Given the description of an element on the screen output the (x, y) to click on. 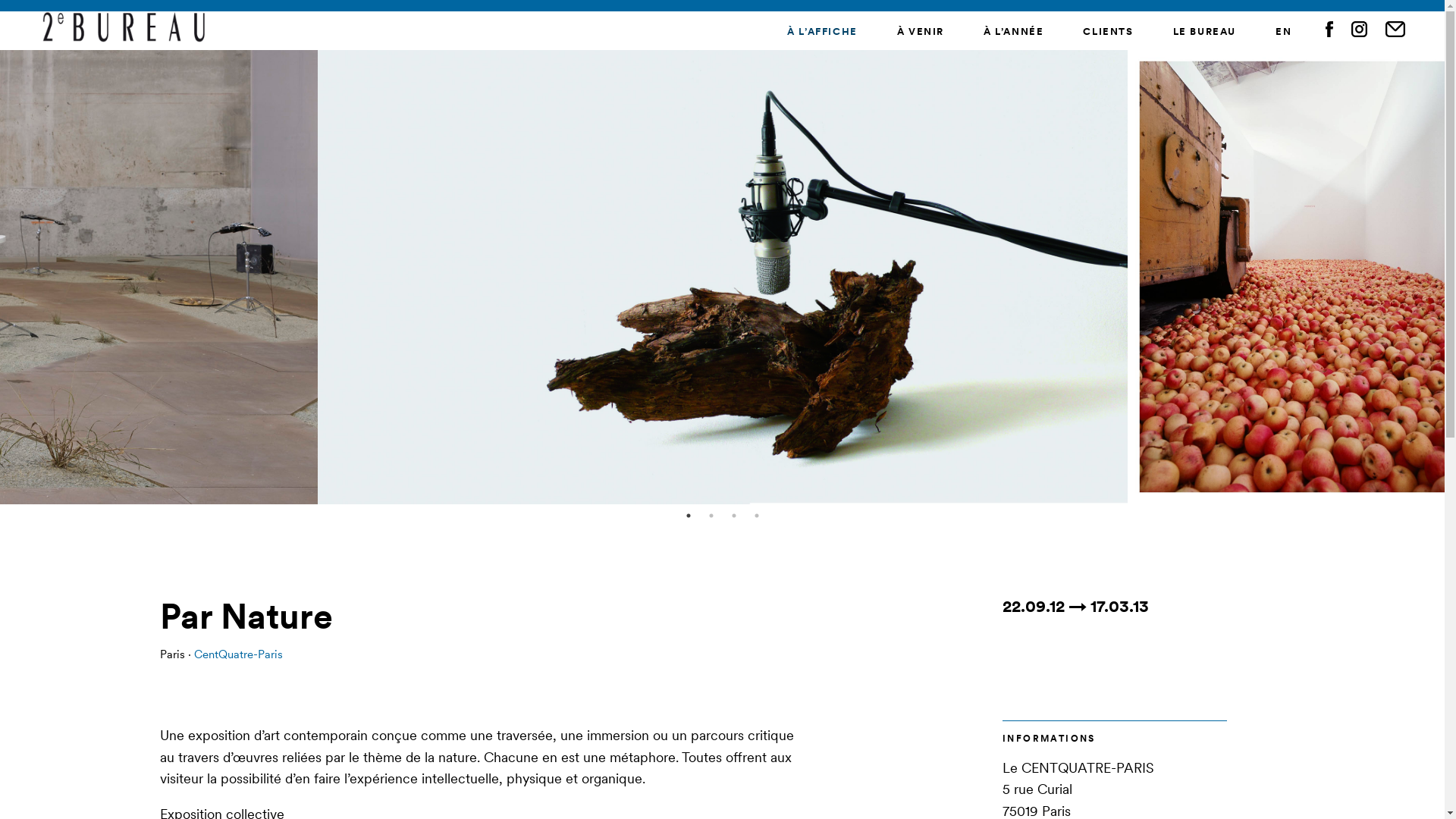
4 Element type: text (756, 515)
CLIENTS Element type: text (1107, 31)
2 Element type: text (710, 515)
EN Element type: text (1283, 31)
LE BUREAU Element type: text (1204, 31)
1 Element type: text (688, 515)
CentQuatre-Paris Element type: text (238, 653)
3 Element type: text (733, 515)
